Given the description of an element on the screen output the (x, y) to click on. 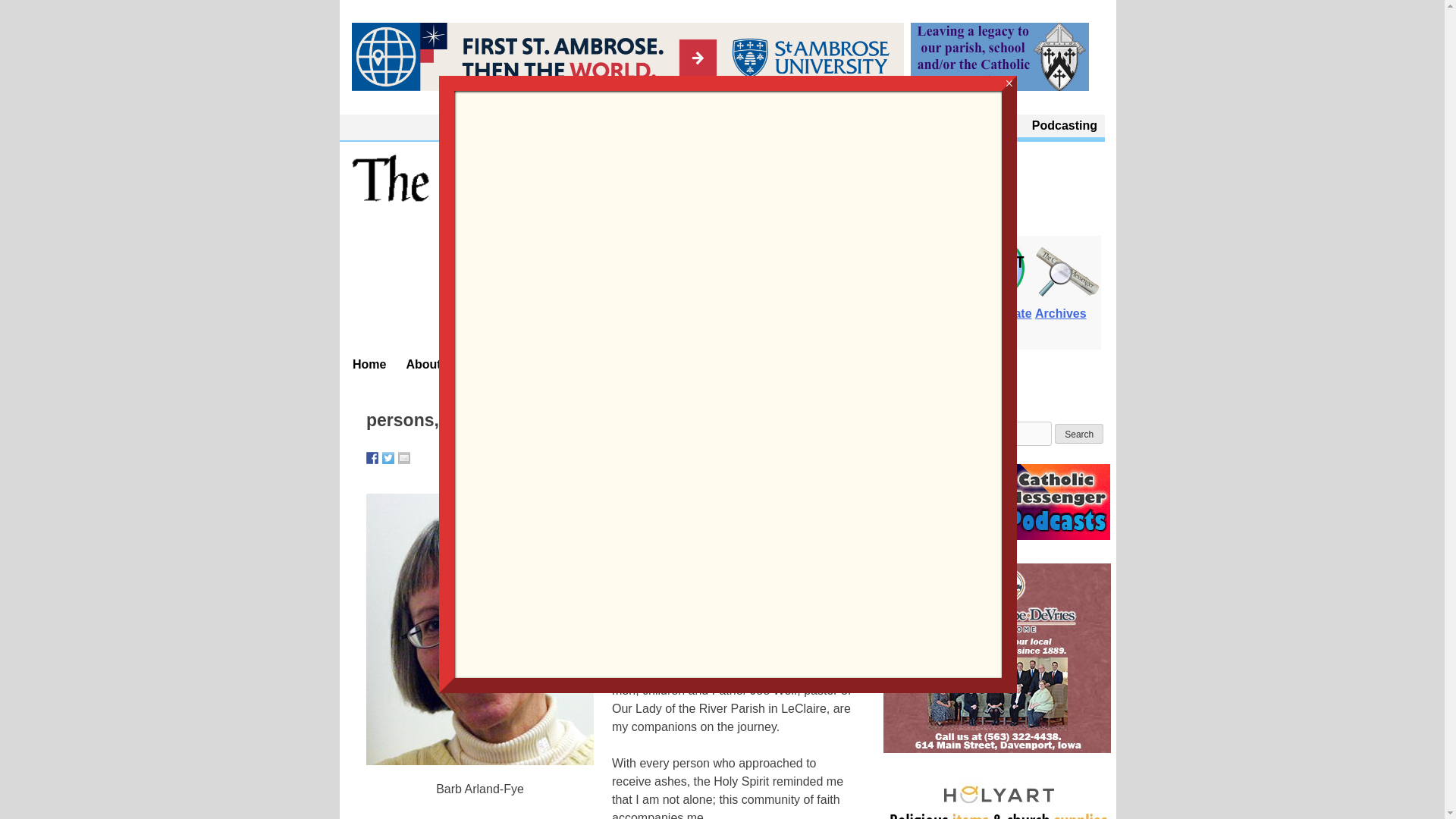
About Us (438, 363)
Search (1078, 433)
Share by email (403, 458)
Search (1078, 433)
Podcasting (1065, 125)
Share on Twitter (387, 458)
About Us (910, 125)
TCM Donate (995, 304)
Home (369, 363)
Subscribe (585, 363)
Archives (1067, 304)
News (513, 363)
E-Edition (927, 304)
Advertise (668, 363)
Share on Facebook (372, 458)
